Given the description of an element on the screen output the (x, y) to click on. 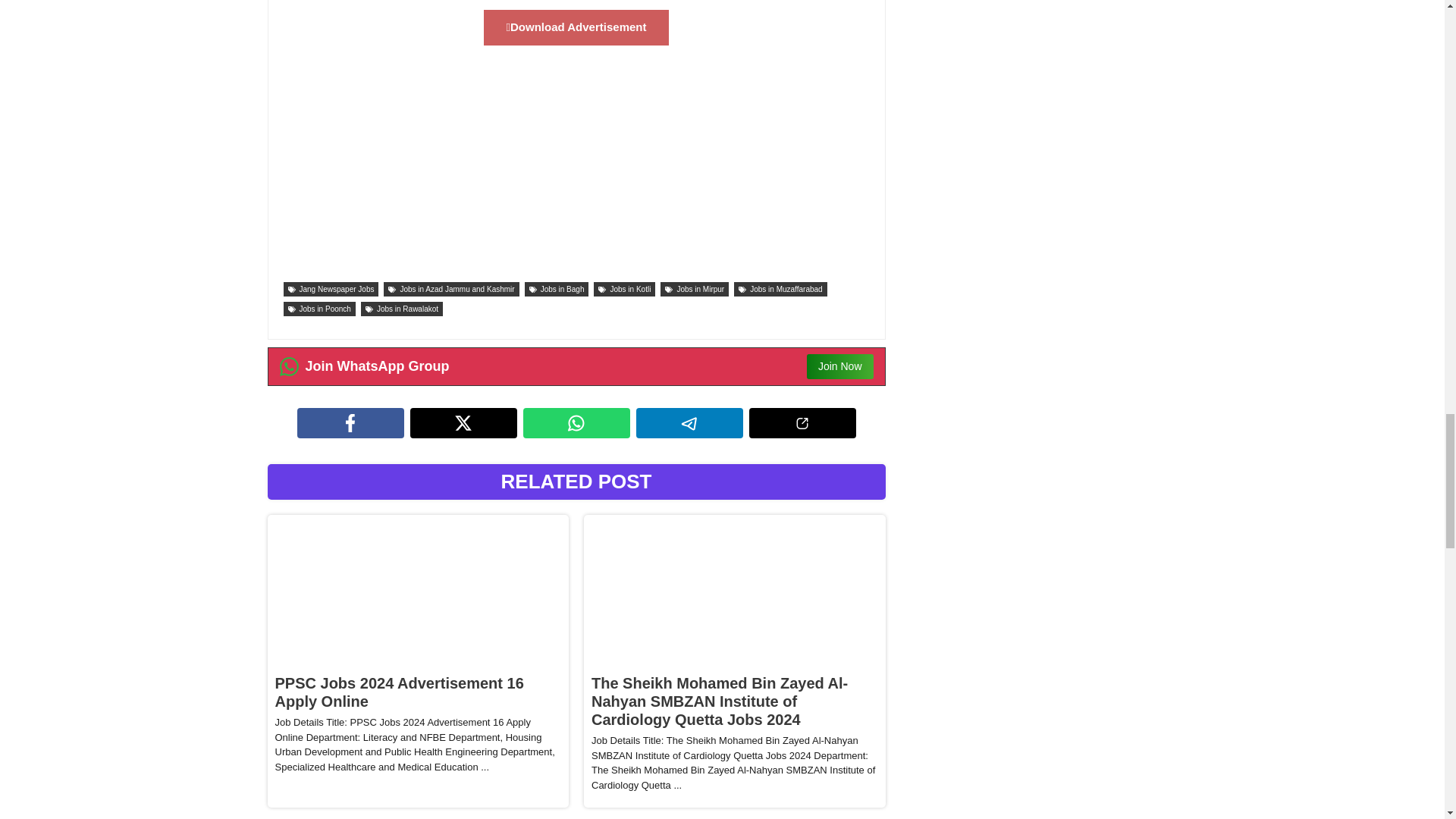
Jobs in Kotli (624, 288)
Jang Newspaper Jobs (330, 288)
Download Advertisement (576, 27)
Join Now (839, 366)
Advertisement (576, 168)
Jobs in Rawalakot (401, 309)
Jobs in Azad Jammu and Kashmir (451, 288)
PPSC Jobs 2024 Advertisement 16 Apply Online (398, 692)
Download Advertisement (576, 27)
Jobs in Mirpur (695, 288)
Jobs in Bagh (556, 288)
Jobs in Muzaffarabad (780, 288)
Jobs in Poonch (319, 309)
